Given the description of an element on the screen output the (x, y) to click on. 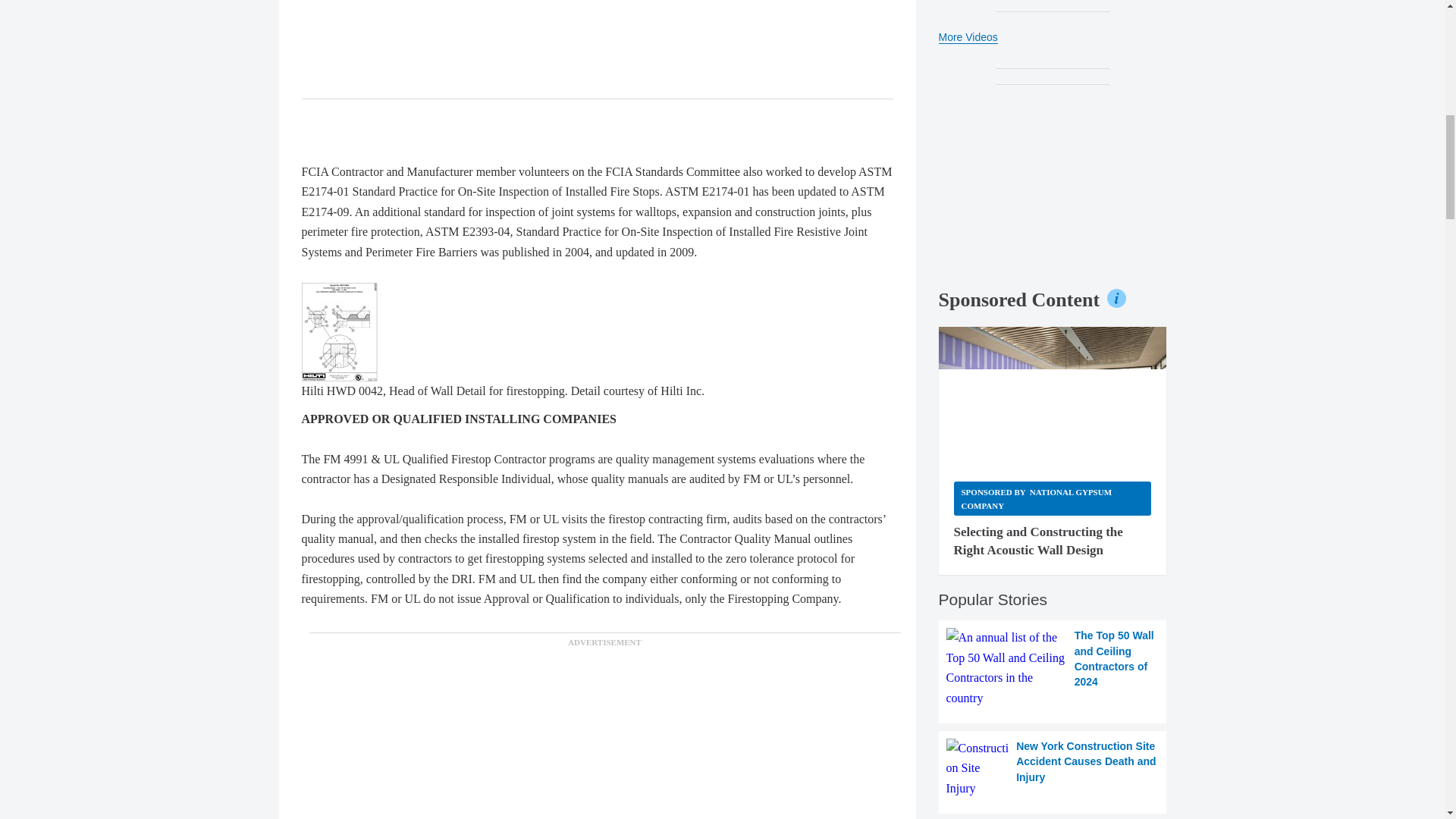
Sponsored by National Gypsum Company (1052, 498)
Sound Solutions SoundBreak XP (1052, 396)
The Top 50 Wall and Ceiling Contractors of 2024 (1052, 668)
New York Construction Site Accident Causes Death and Injury (1052, 768)
